Given the description of an element on the screen output the (x, y) to click on. 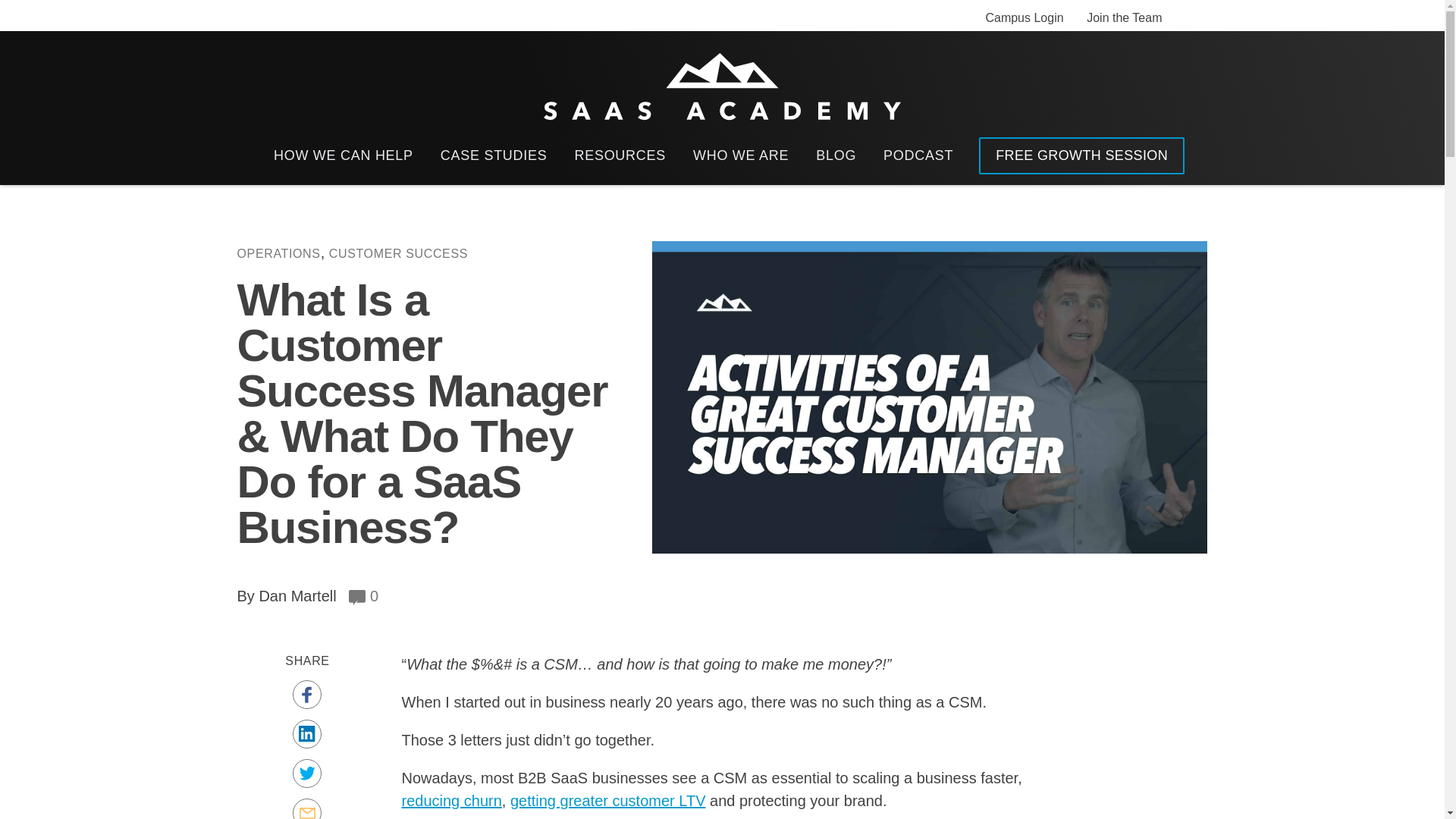
0 (363, 596)
HOW WE CAN HELP (343, 155)
BLOG (835, 155)
PODCAST (918, 155)
Join the Team (1123, 17)
CASE STUDIES (494, 155)
CUSTOMER SUCCESS (398, 253)
Free Growth Session (1081, 155)
OPERATIONS (277, 253)
reducing churn (451, 800)
getting greater customer LTV (608, 800)
FREE GROWTH SESSION (1081, 155)
RESOURCES (619, 155)
WHO WE ARE (741, 155)
By Dan Martell (285, 596)
